Given the description of an element on the screen output the (x, y) to click on. 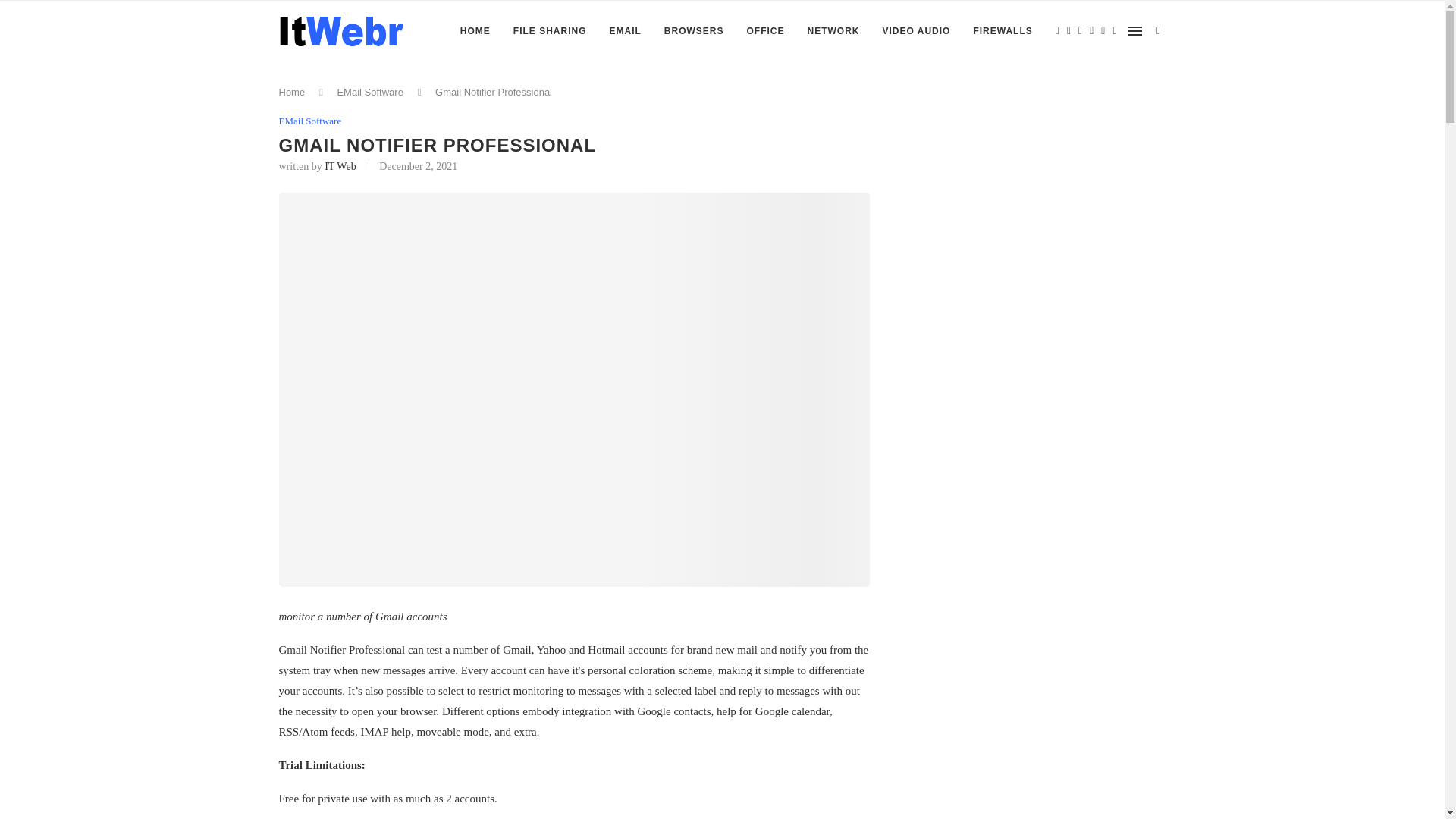
EMail Software (369, 91)
BROWSERS (693, 30)
VIDEO AUDIO (916, 30)
Home (292, 91)
EMail Software (310, 121)
FILE SHARING (549, 30)
IT Web (340, 165)
FIREWALLS (1002, 30)
